Given the description of an element on the screen output the (x, y) to click on. 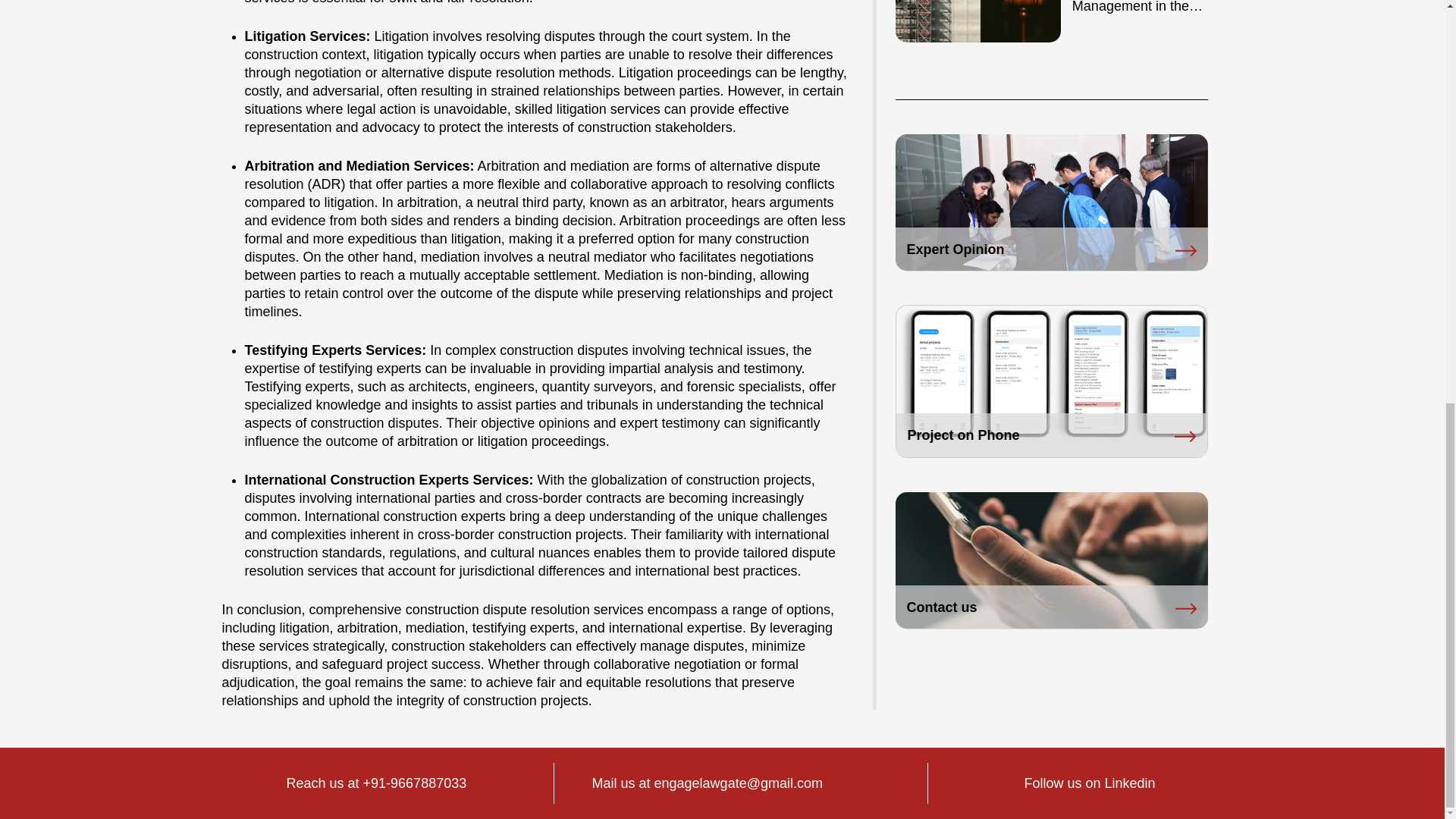
Expert Opinion (1051, 249)
Contact us (1051, 607)
Project on Phone (1051, 435)
Follow us on Linkedin (1090, 783)
